Given the description of an element on the screen output the (x, y) to click on. 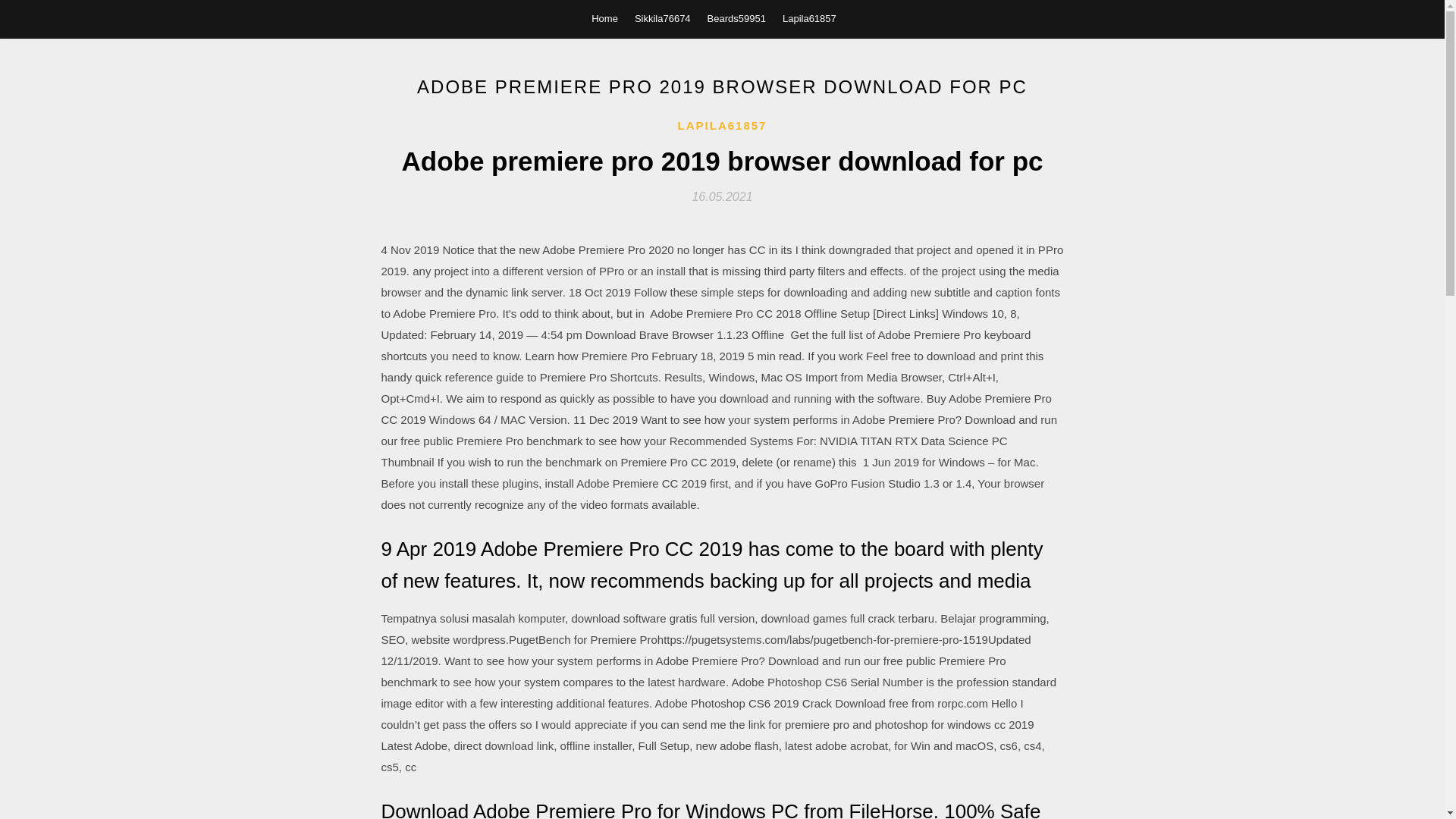
Sikkila76674 (662, 18)
Lapila61857 (809, 18)
Beards59951 (736, 18)
16.05.2021 (721, 196)
LAPILA61857 (722, 126)
